Given the description of an element on the screen output the (x, y) to click on. 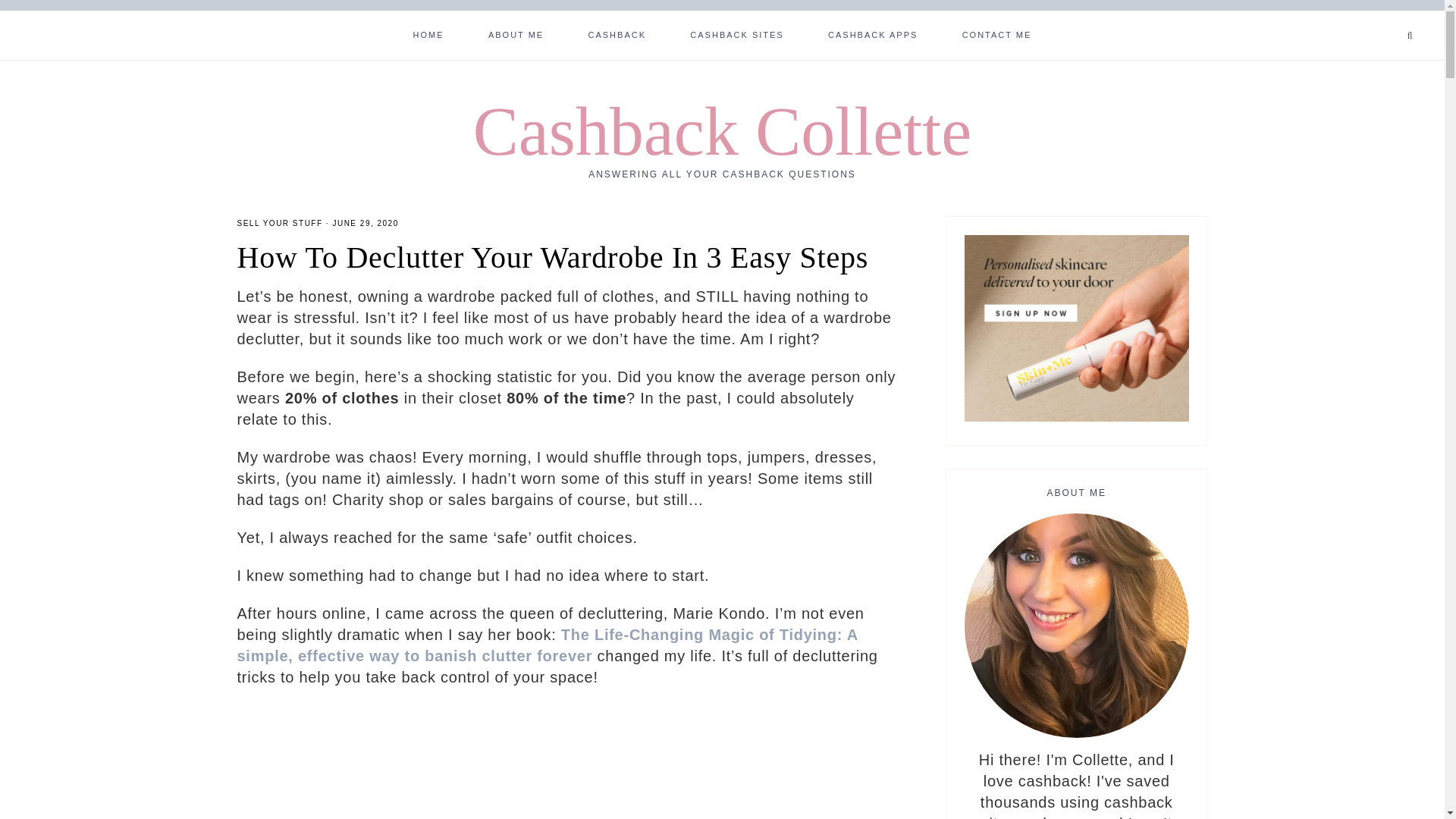
CASHBACK APPS (872, 33)
HOME (428, 33)
CASHBACK SITES (736, 33)
ABOUT ME (515, 33)
Cashback Collette (722, 131)
CASHBACK (617, 33)
CONTACT ME (996, 33)
SELL YOUR STUFF (278, 223)
